Given the description of an element on the screen output the (x, y) to click on. 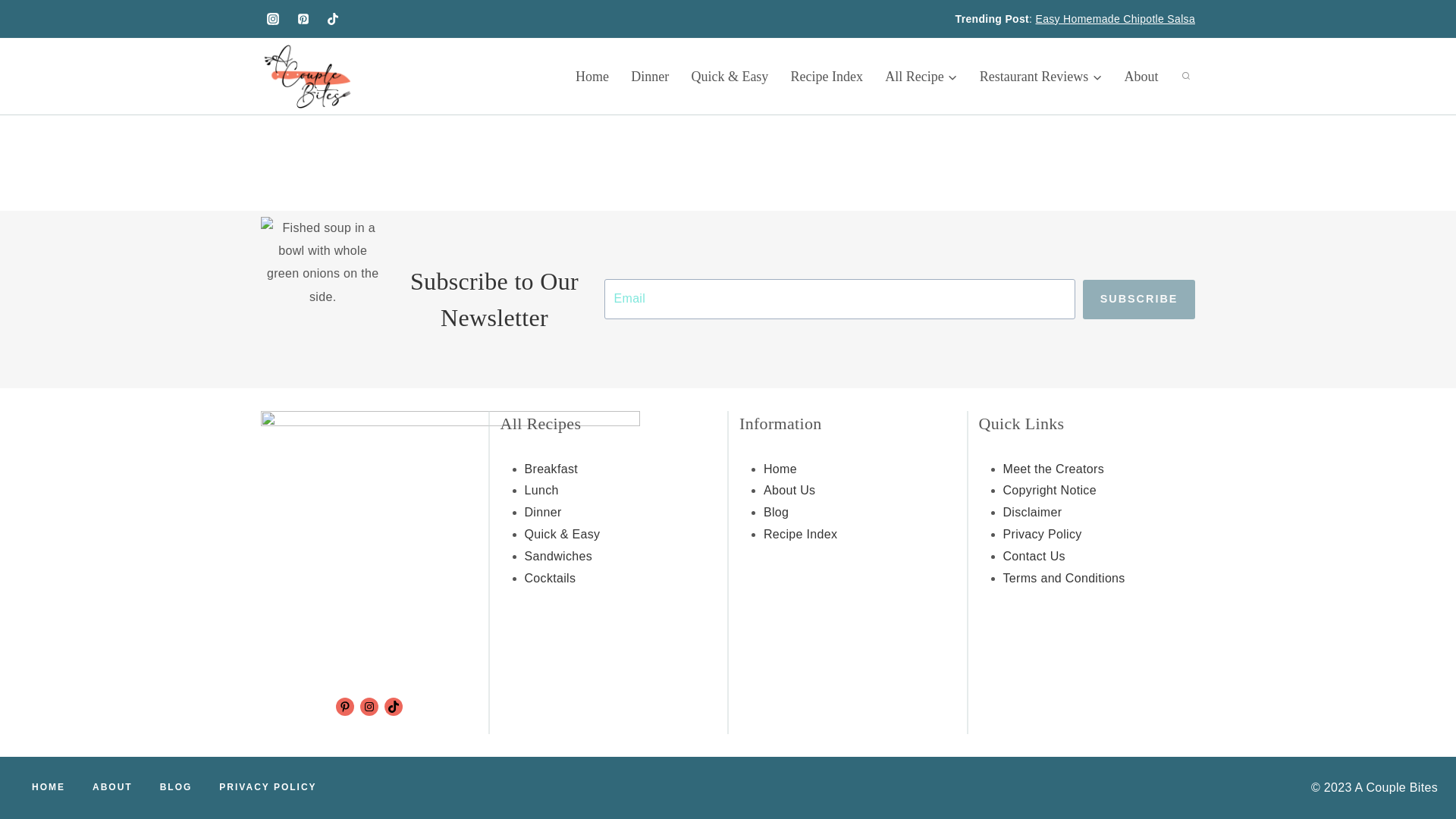
Lunch (541, 490)
Easy Homemade Chipotle Salsa (1115, 19)
Recipe Index (826, 76)
About (1141, 76)
Dinner (543, 512)
All Recipe (922, 76)
Dinner (649, 76)
Home (592, 76)
Pinterest (344, 706)
Breakfast (551, 468)
TikTok (393, 706)
Sandwiches (558, 555)
SUBSCRIBE (1139, 299)
Restaurant Reviews (1040, 76)
Instagram (368, 706)
